Given the description of an element on the screen output the (x, y) to click on. 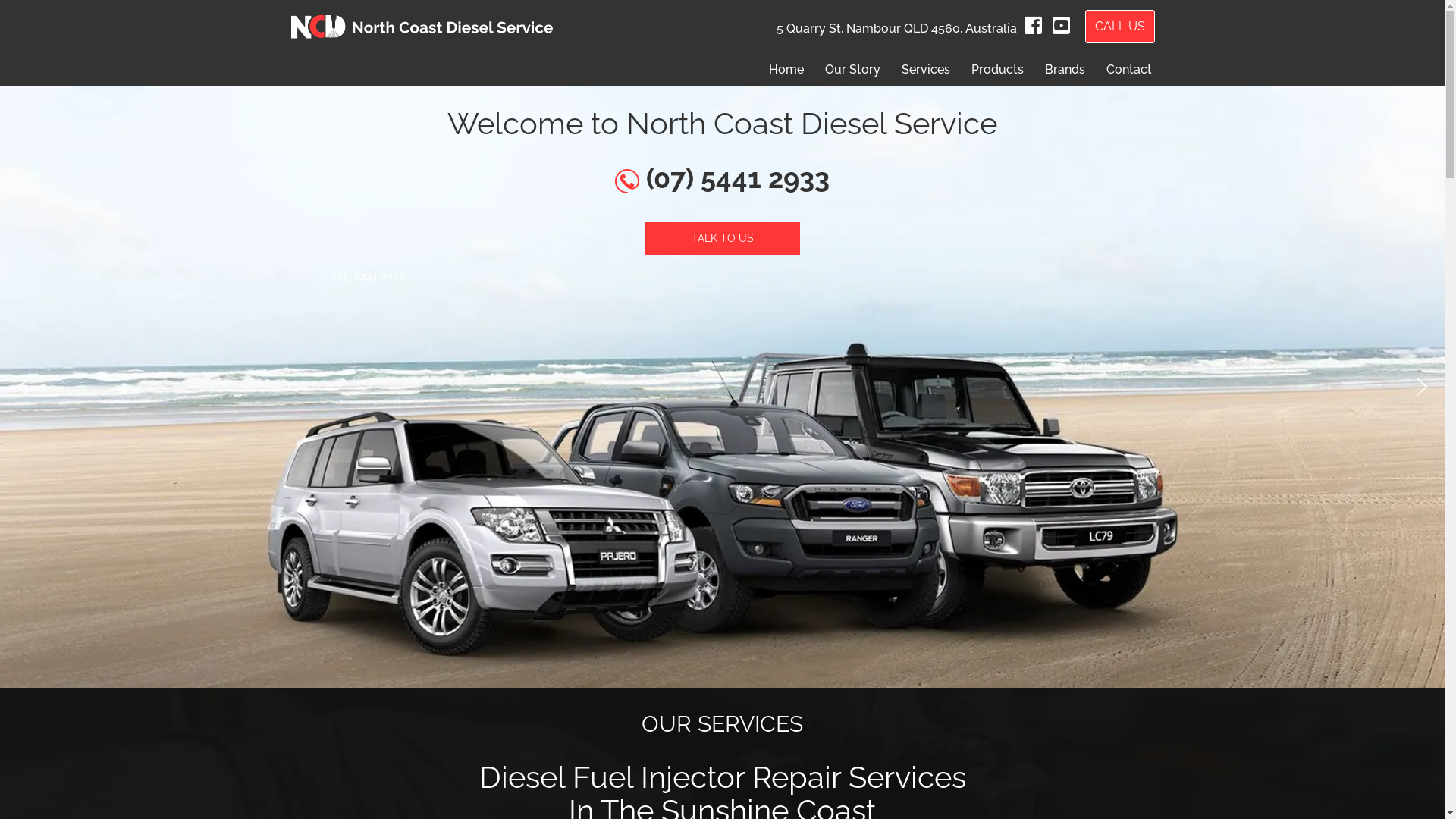
Products Element type: text (996, 69)
Home Element type: text (785, 69)
CALL US Element type: text (1119, 26)
TALK TO US Element type: text (721, 238)
Services Element type: text (924, 69)
Brands Element type: text (1064, 69)
Our Story Element type: text (852, 69)
Contact Element type: text (1128, 69)
(07) 5441 2933 Element type: text (722, 178)
Skip to content Element type: text (11, 31)
